Given the description of an element on the screen output the (x, y) to click on. 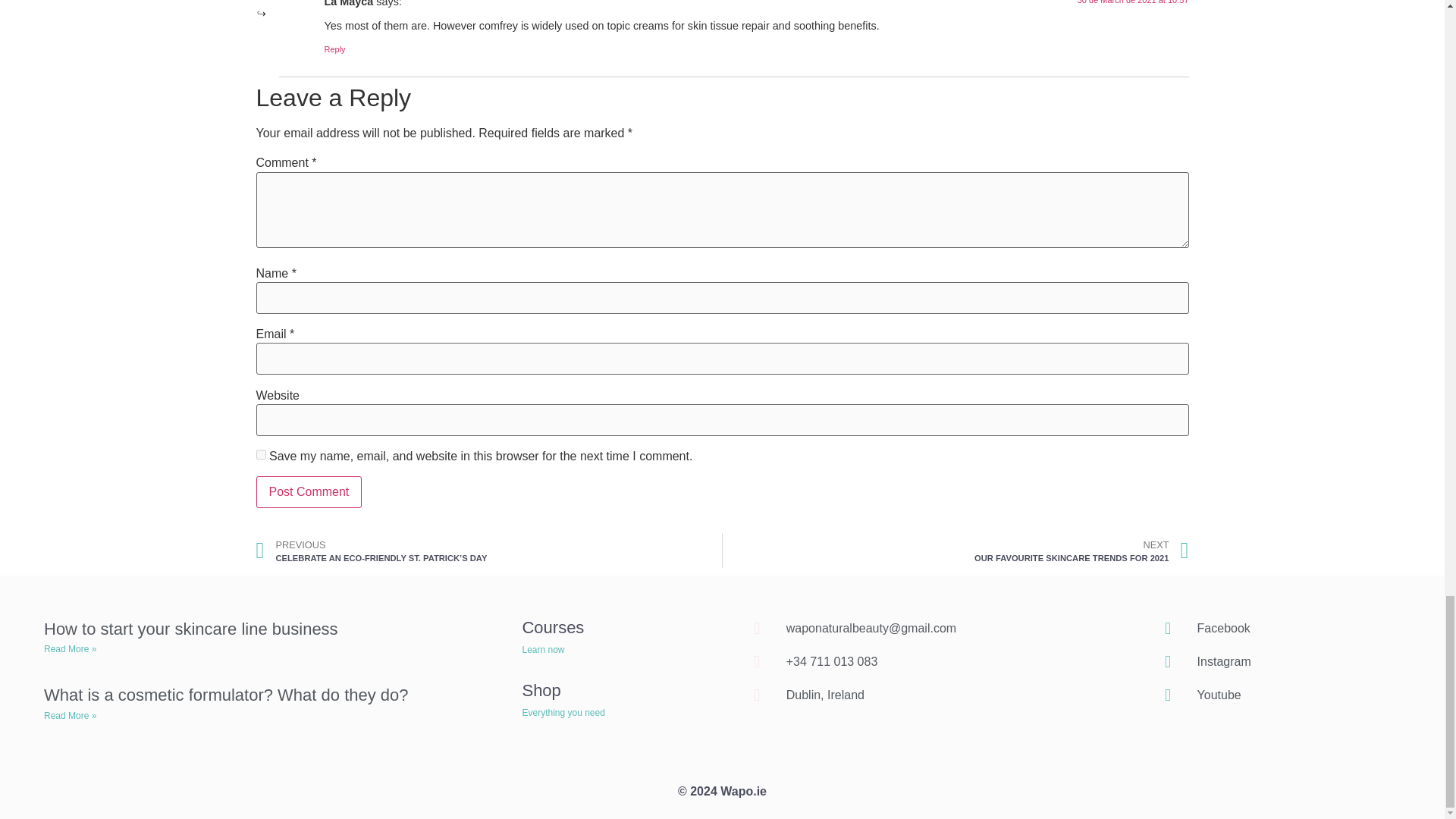
30 de March de 2021 at 10:57 (955, 550)
yes (1133, 2)
Post Comment (261, 454)
How to start your skincare line business (309, 491)
Reply (190, 628)
Post Comment (335, 49)
